Given the description of an element on the screen output the (x, y) to click on. 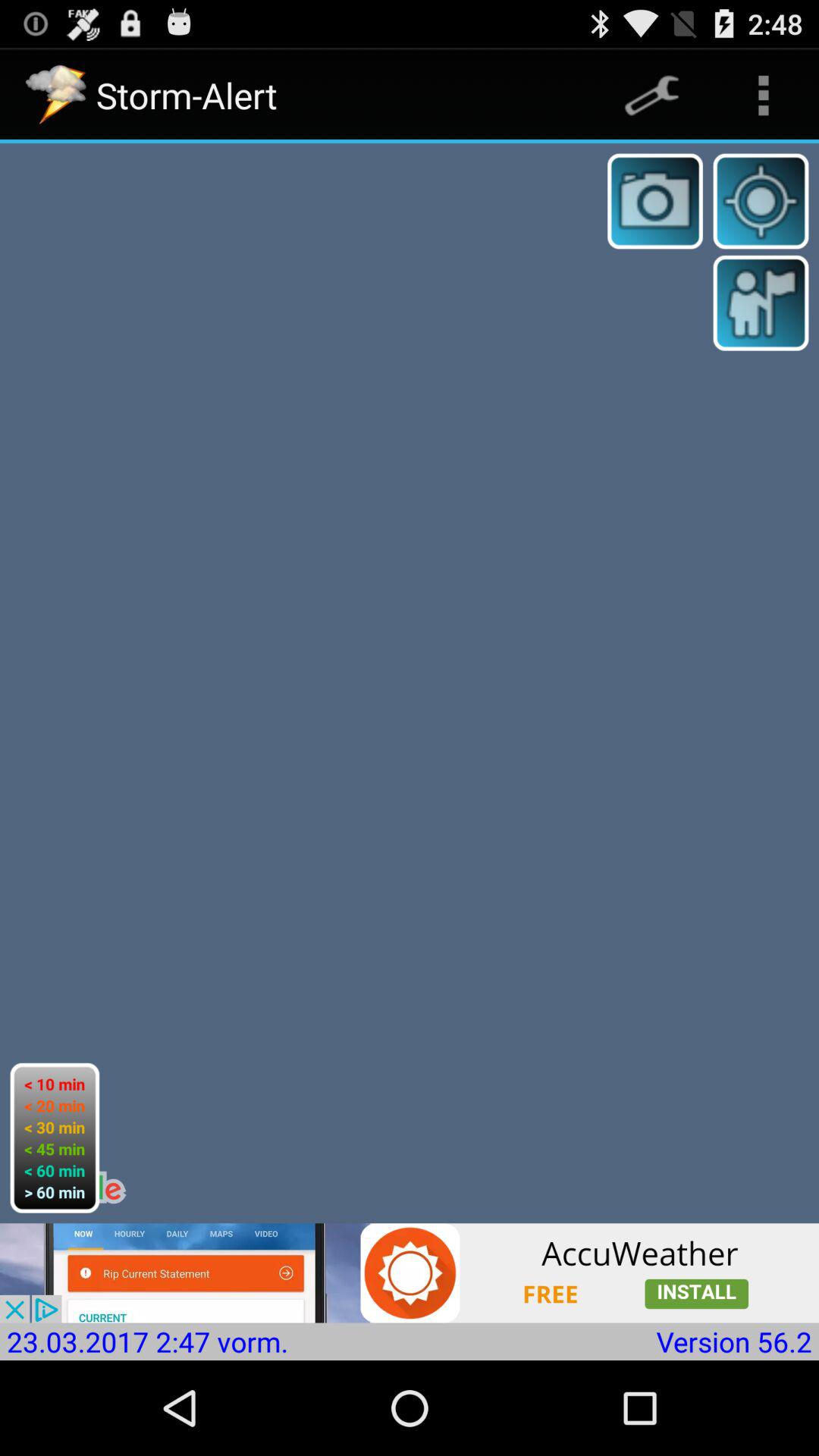
place option (760, 302)
